Given the description of an element on the screen output the (x, y) to click on. 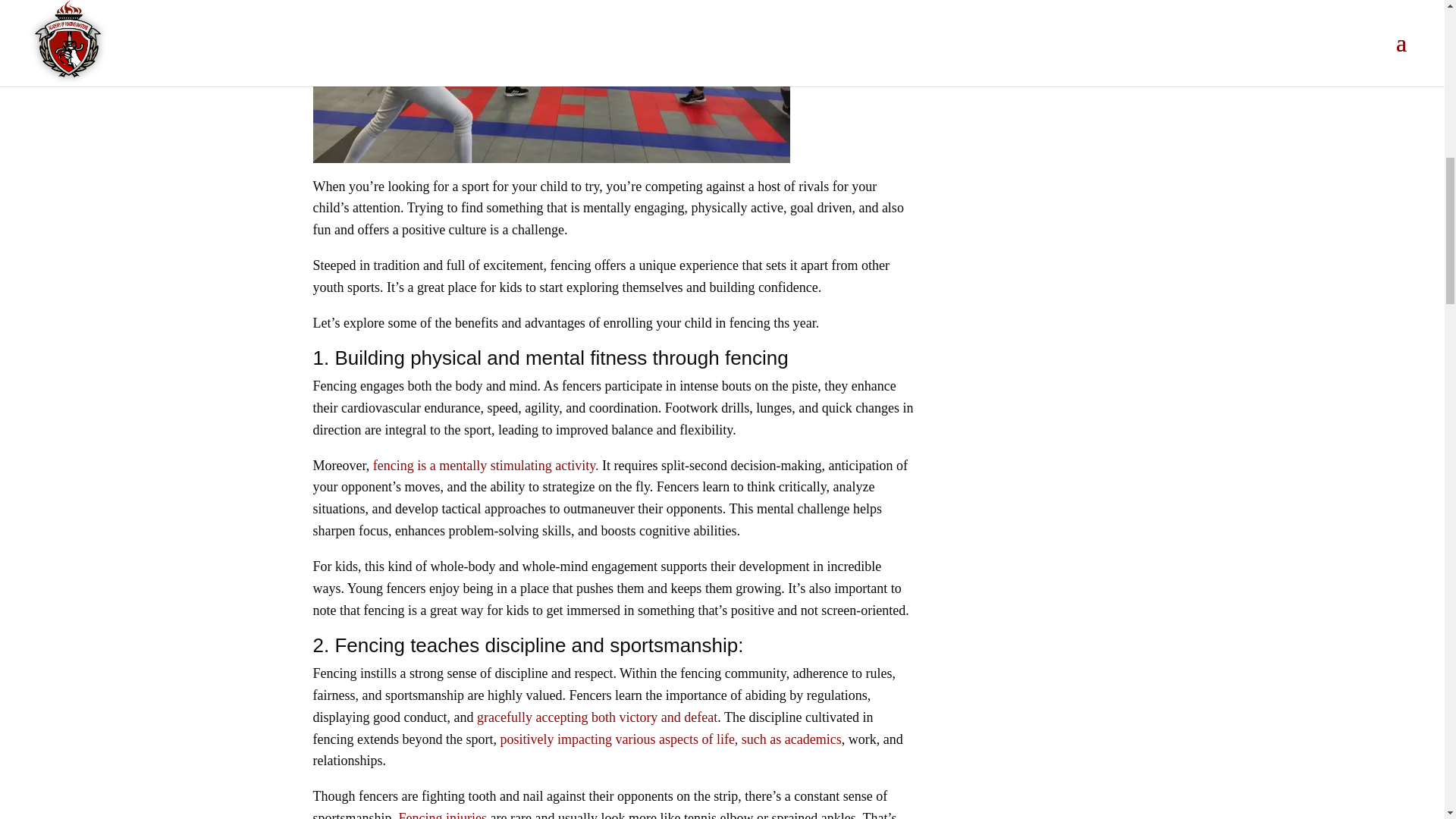
gracefully accepting both victory and defeat (597, 717)
Fencing injuries (442, 814)
fencing is a mentally stimulating activity. (485, 465)
